Given the description of an element on the screen output the (x, y) to click on. 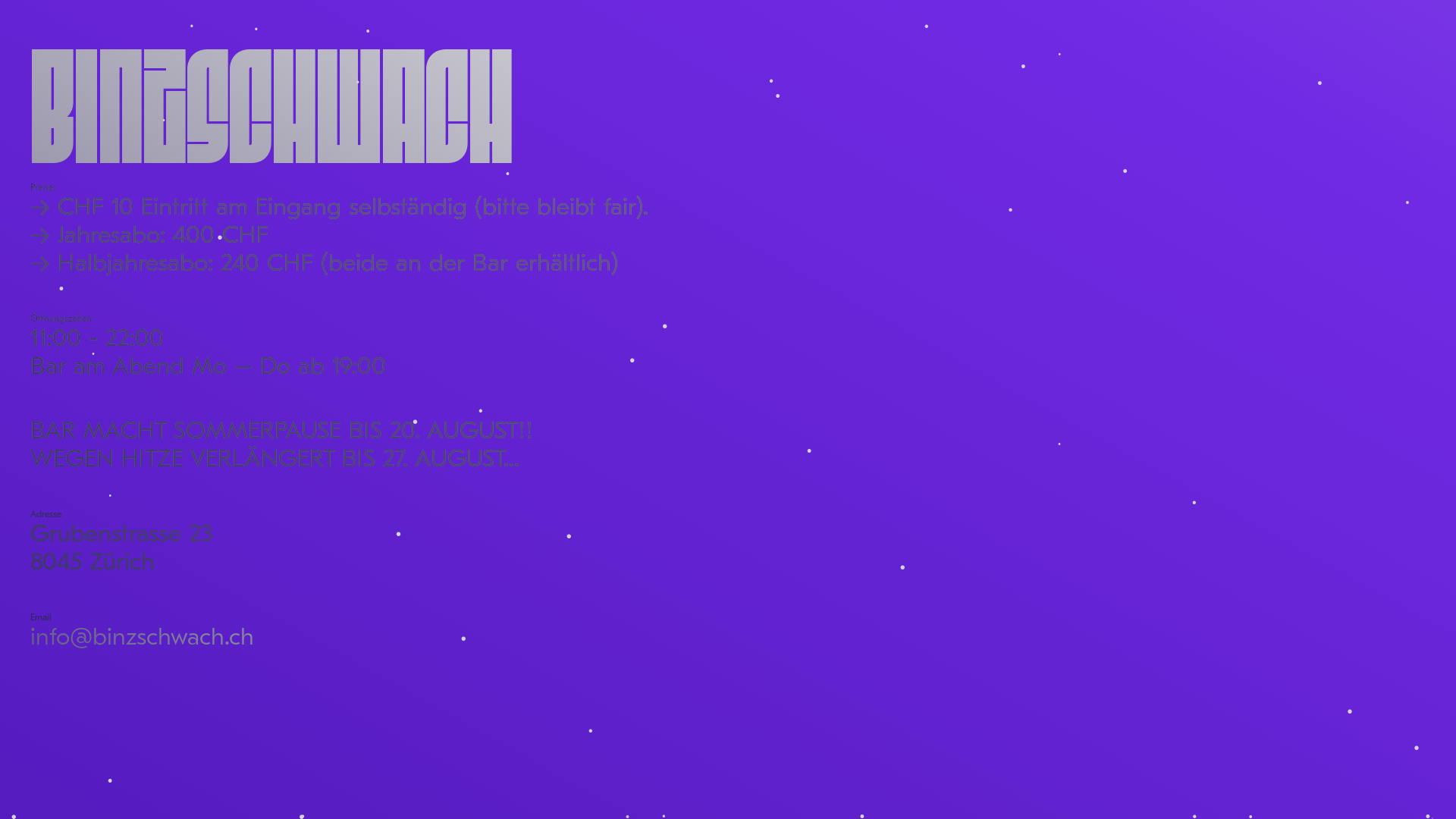
info@binzschwach.ch Element type: text (142, 636)
binzschwach Element type: text (271, 106)
